Given the description of an element on the screen output the (x, y) to click on. 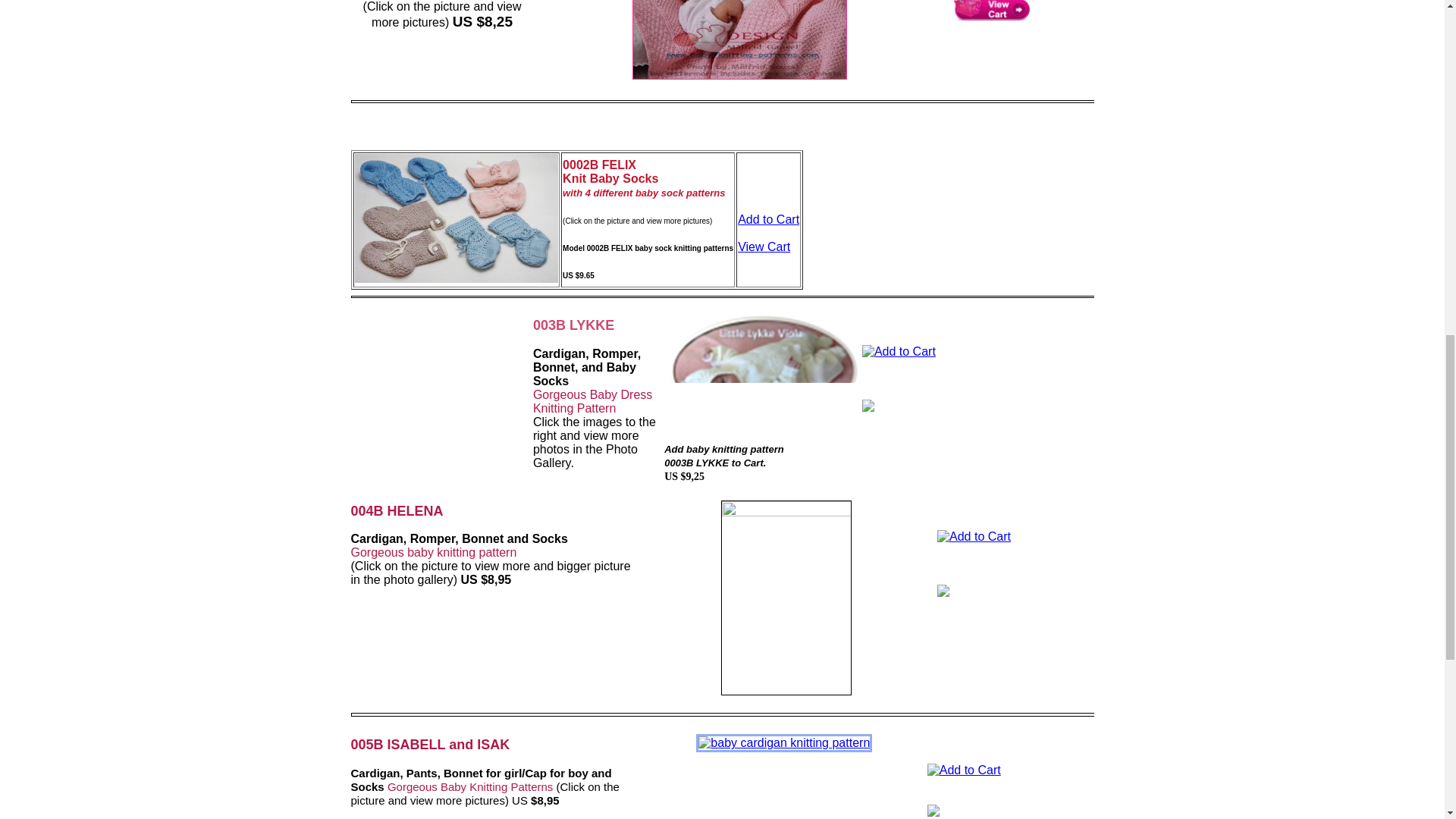
Add to Cart (768, 219)
baby cardigan knitting pattern (783, 742)
View Cart (764, 246)
Go to Baby blanket knitting patterns  (739, 74)
